Given the description of an element on the screen output the (x, y) to click on. 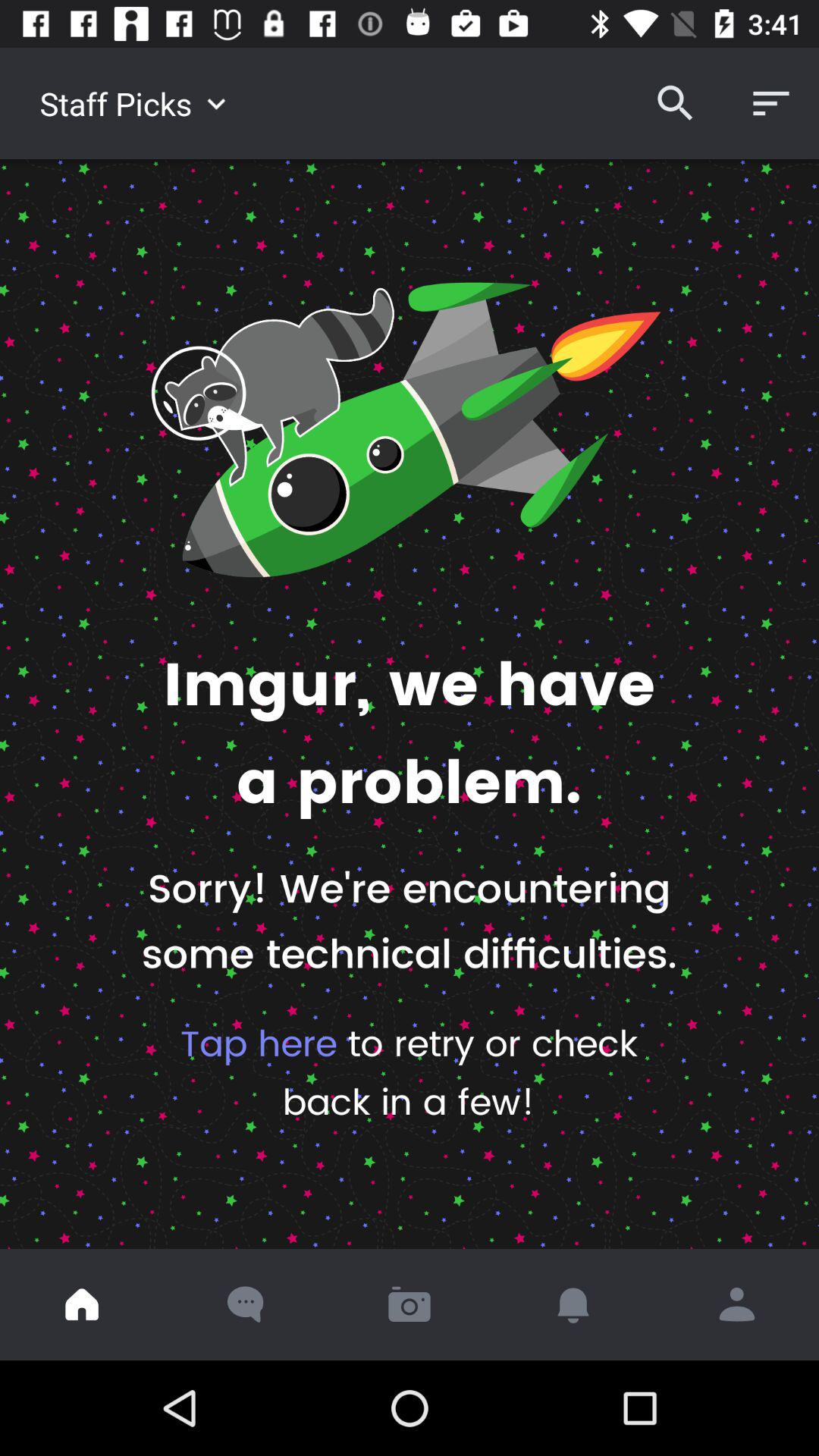
tap to share (737, 1304)
